Given the description of an element on the screen output the (x, y) to click on. 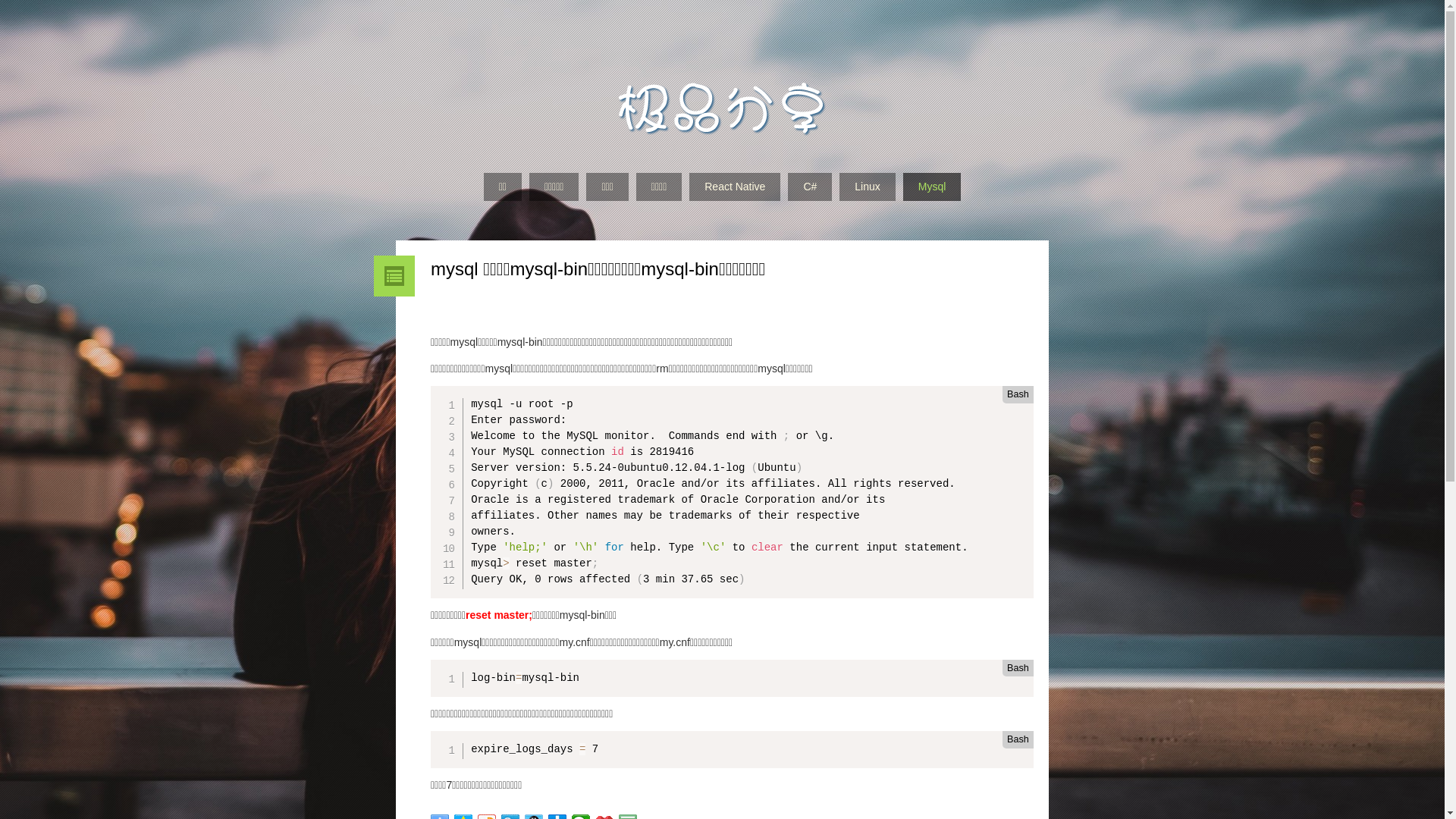
React Native Element type: text (734, 186)
Linux Element type: text (866, 186)
Mysql Element type: text (932, 186)
C# Element type: text (809, 186)
